Given the description of an element on the screen output the (x, y) to click on. 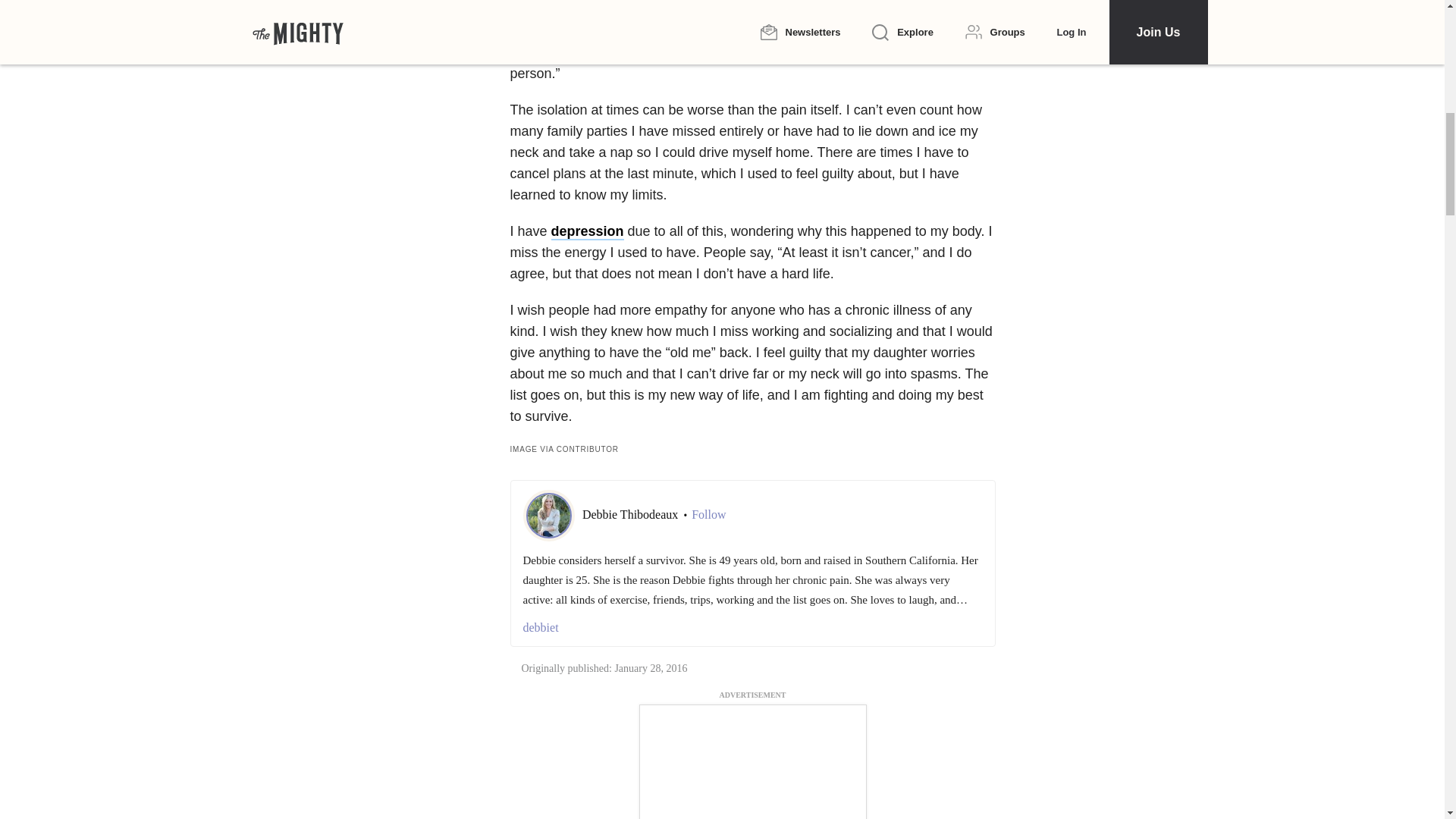
debbiet (752, 628)
Follow (708, 514)
depression (587, 231)
Debbie Thibodeaux (631, 513)
